Given the description of an element on the screen output the (x, y) to click on. 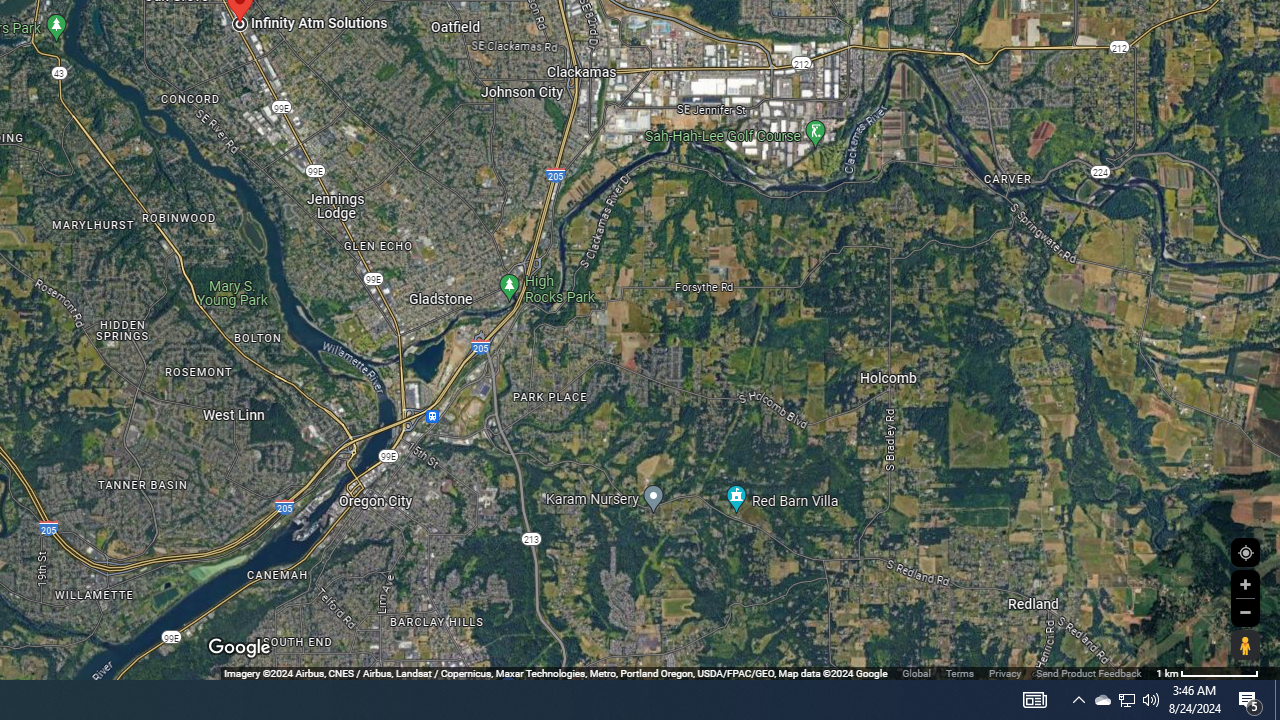
Global (916, 672)
Send Product Feedback (1088, 672)
Show Your Location (1245, 552)
500 m (1207, 672)
Zoom in (1245, 584)
Show Street View coverage (1245, 645)
Zoom out (1245, 612)
